Given the description of an element on the screen output the (x, y) to click on. 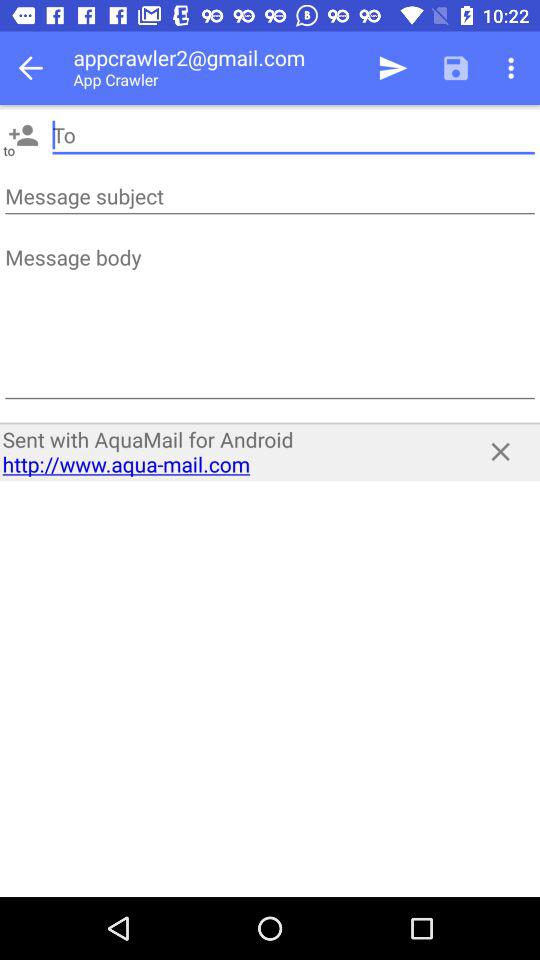
press the icon to the right of the sent with aquamail item (500, 451)
